Given the description of an element on the screen output the (x, y) to click on. 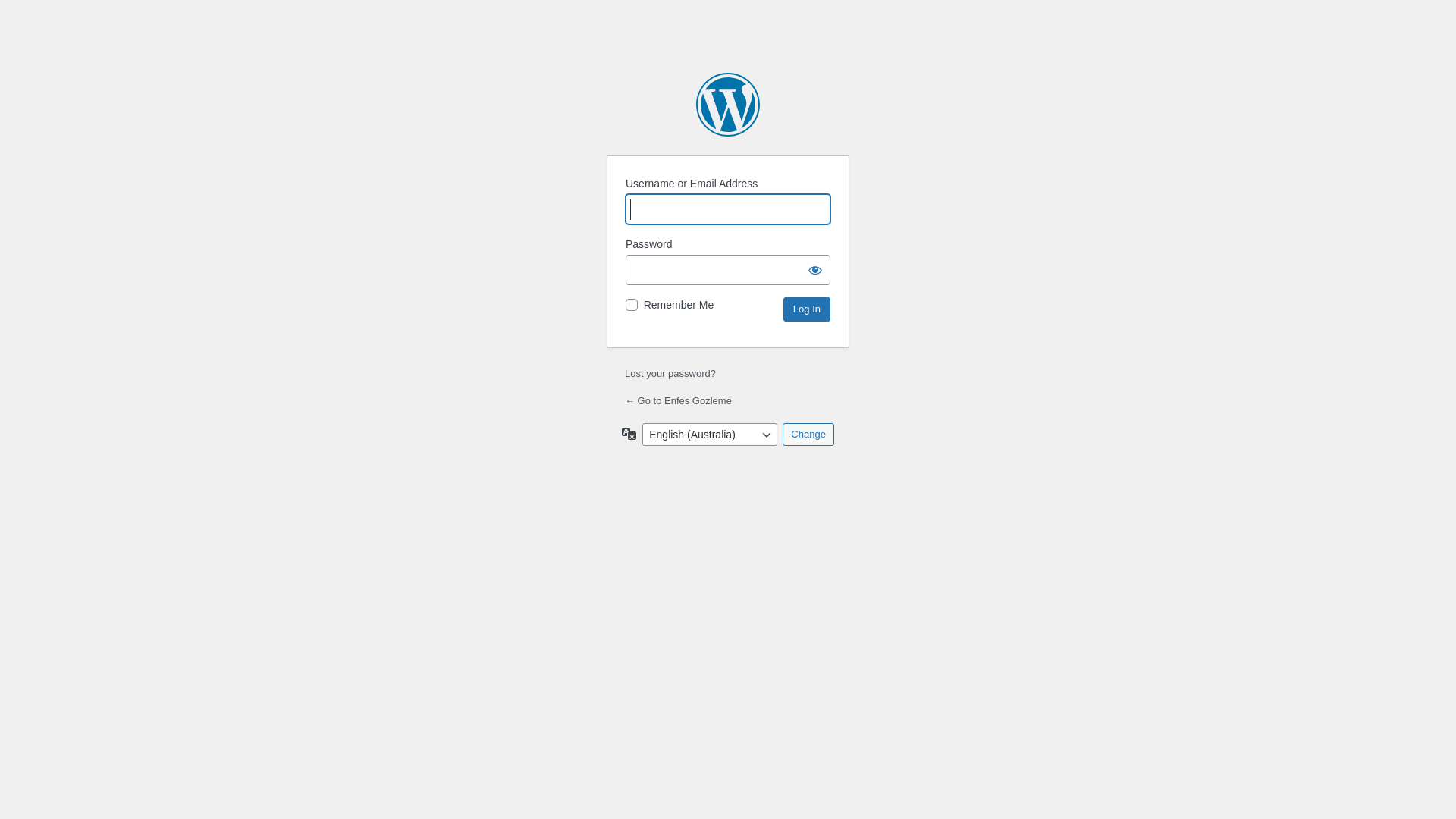
Log In Element type: text (806, 309)
Lost your password? Element type: text (669, 373)
Powered by WordPress Element type: text (727, 104)
Change Element type: text (808, 434)
